Given the description of an element on the screen output the (x, y) to click on. 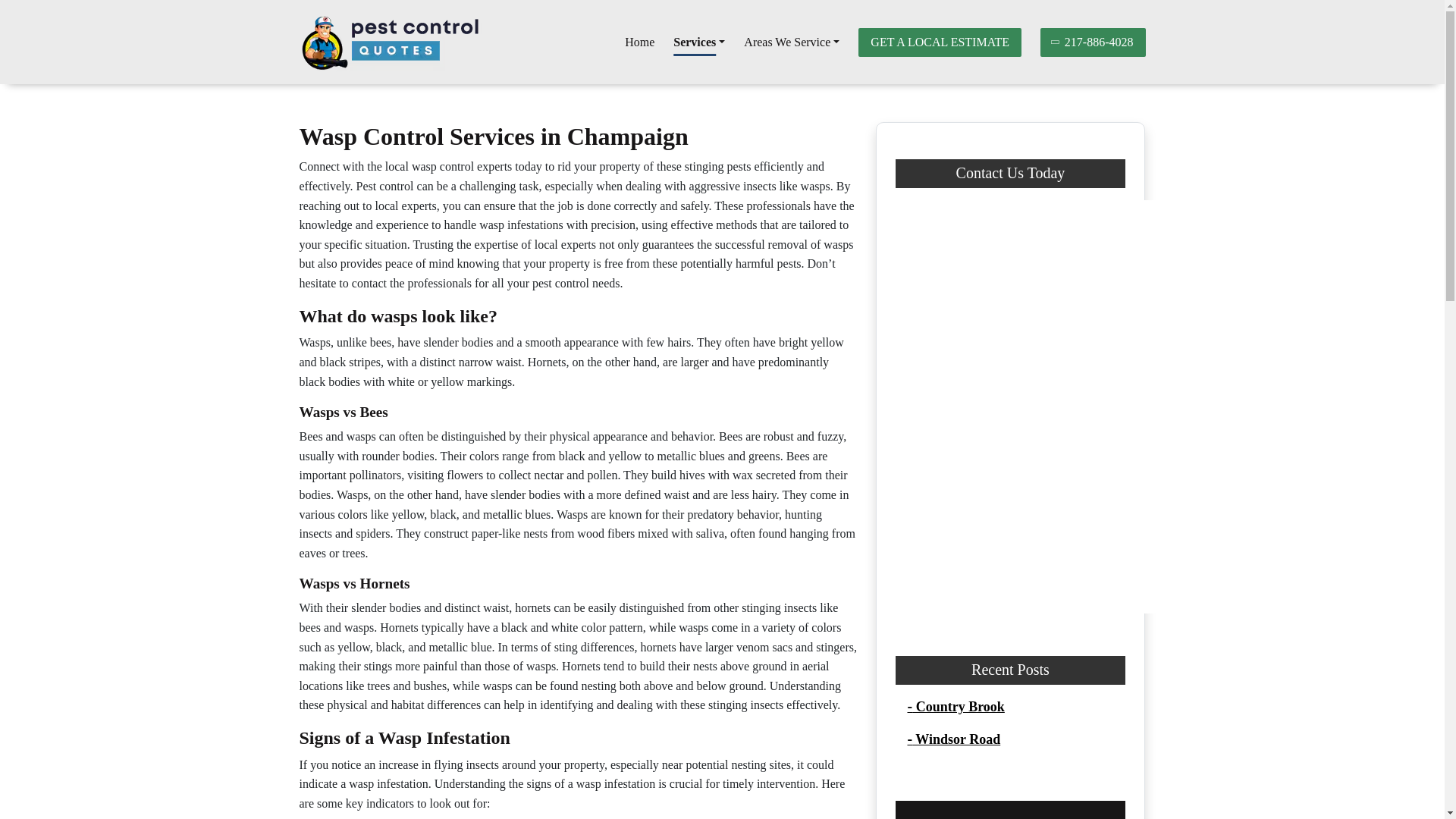
Areas We Service (792, 42)
Services (698, 42)
- Windsor Road (953, 739)
Areas We Service (792, 42)
Services (698, 42)
217-886-4028 (1093, 41)
Home (638, 42)
Home (638, 42)
- Country Brook (955, 706)
GET A LOCAL ESTIMATE (940, 41)
